Given the description of an element on the screen output the (x, y) to click on. 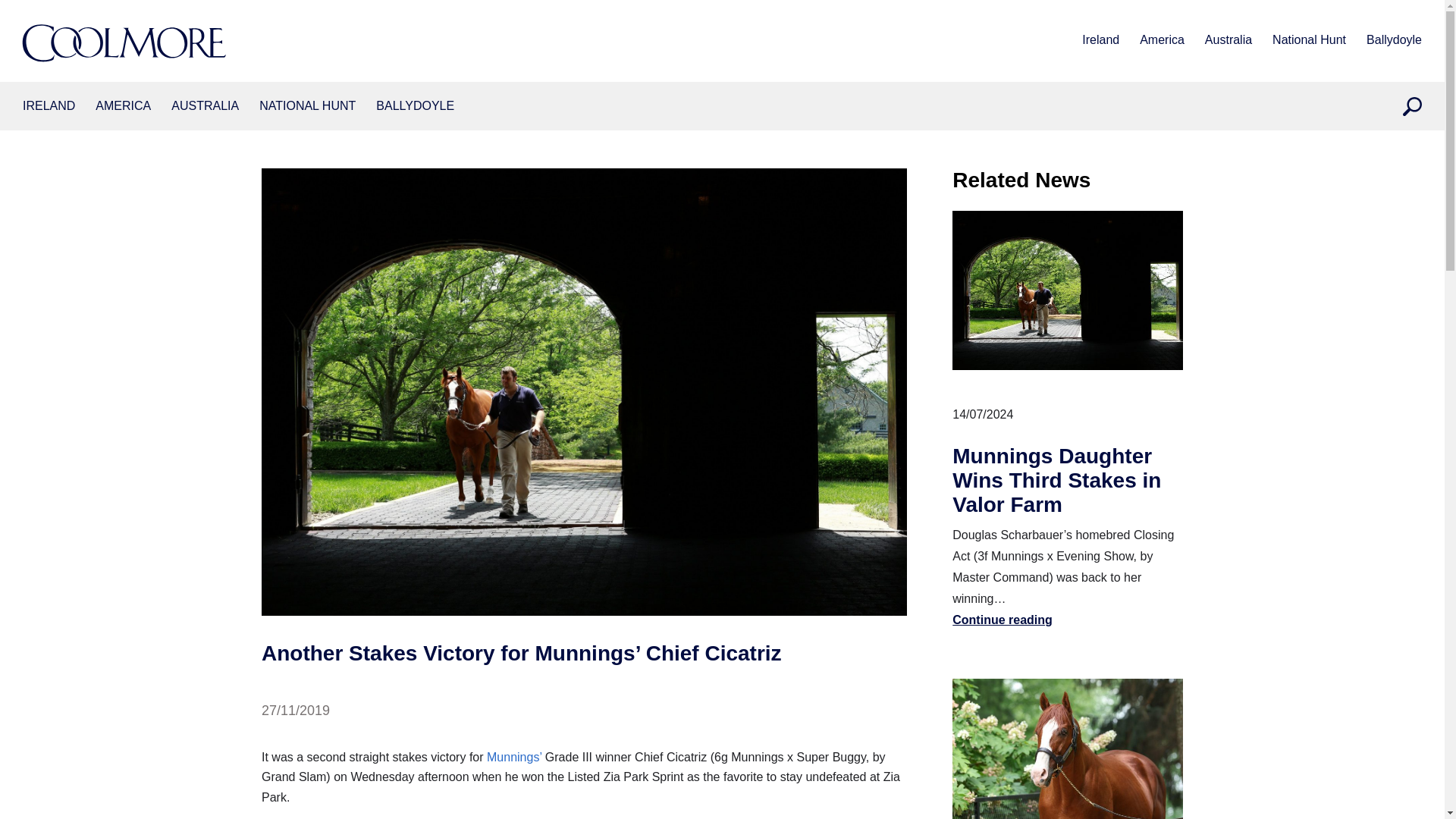
IRELAND (49, 106)
BALLYDOYLE (414, 106)
Australia (1228, 40)
National Hunt (307, 106)
America (1162, 40)
Ballydoyle (414, 106)
Ballydoyle (1394, 40)
National Hunt (1308, 40)
America (123, 106)
Ireland (49, 106)
NATIONAL HUNT (307, 106)
AUSTRALIA (204, 106)
Australia (204, 106)
Ireland (1100, 40)
icon-magCreated with Sketch. (1412, 106)
